Given the description of an element on the screen output the (x, y) to click on. 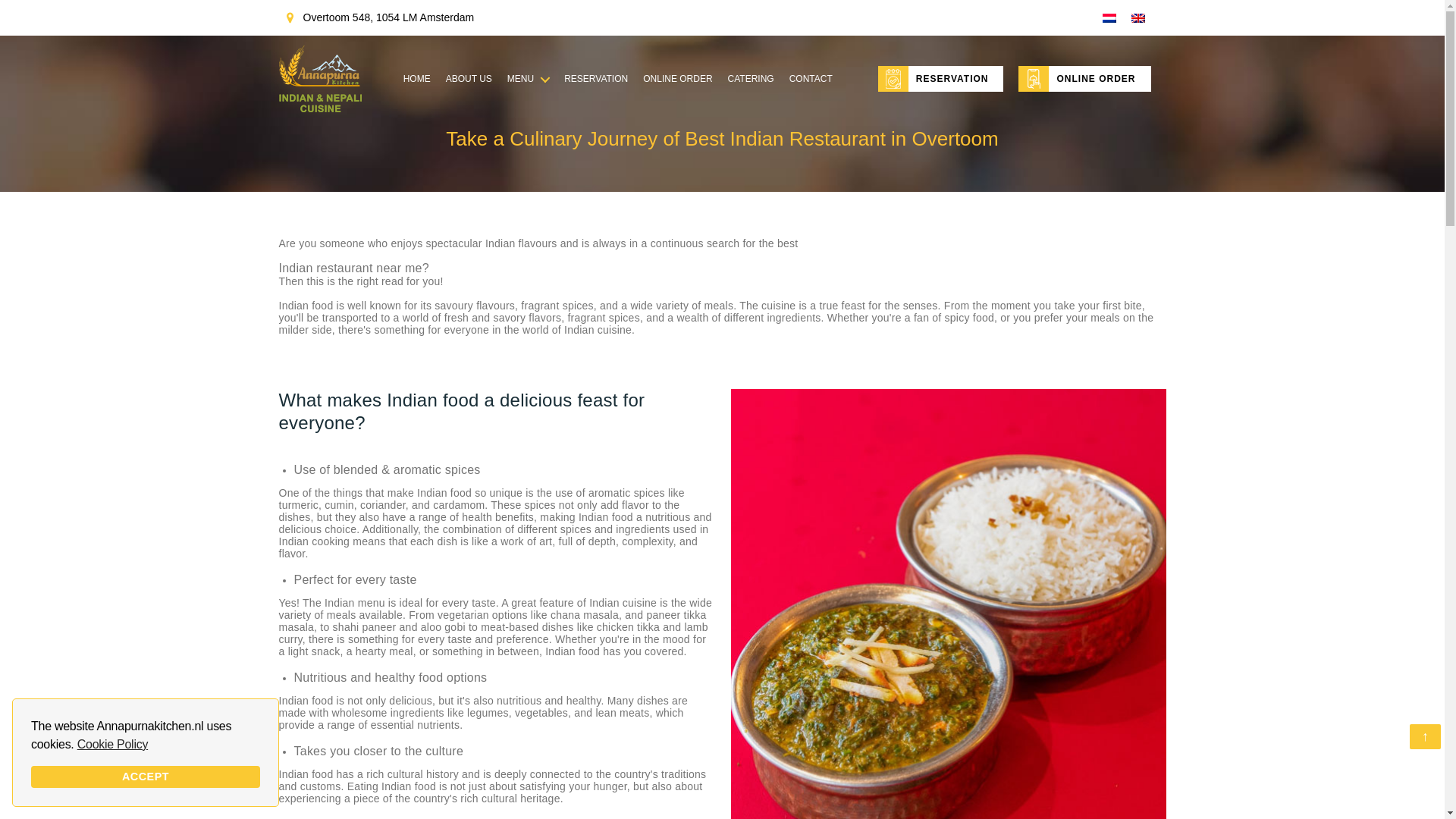
ONLINE ORDER (1083, 78)
ONLINE ORDER (677, 78)
RESERVATION (595, 78)
Online Order (1083, 78)
Click here to make a reservation (595, 78)
Indian Restaurant in Amsterdam (416, 78)
ABOUT US (468, 78)
ACCEPT (145, 776)
Order Food Online in Amsterdam (677, 78)
address (380, 17)
Contact Annapurna Restaurant (810, 78)
Reservation (940, 78)
About Annapurna Kitchen (468, 78)
CONTACT (810, 78)
RESERVATION (940, 78)
